Given the description of an element on the screen output the (x, y) to click on. 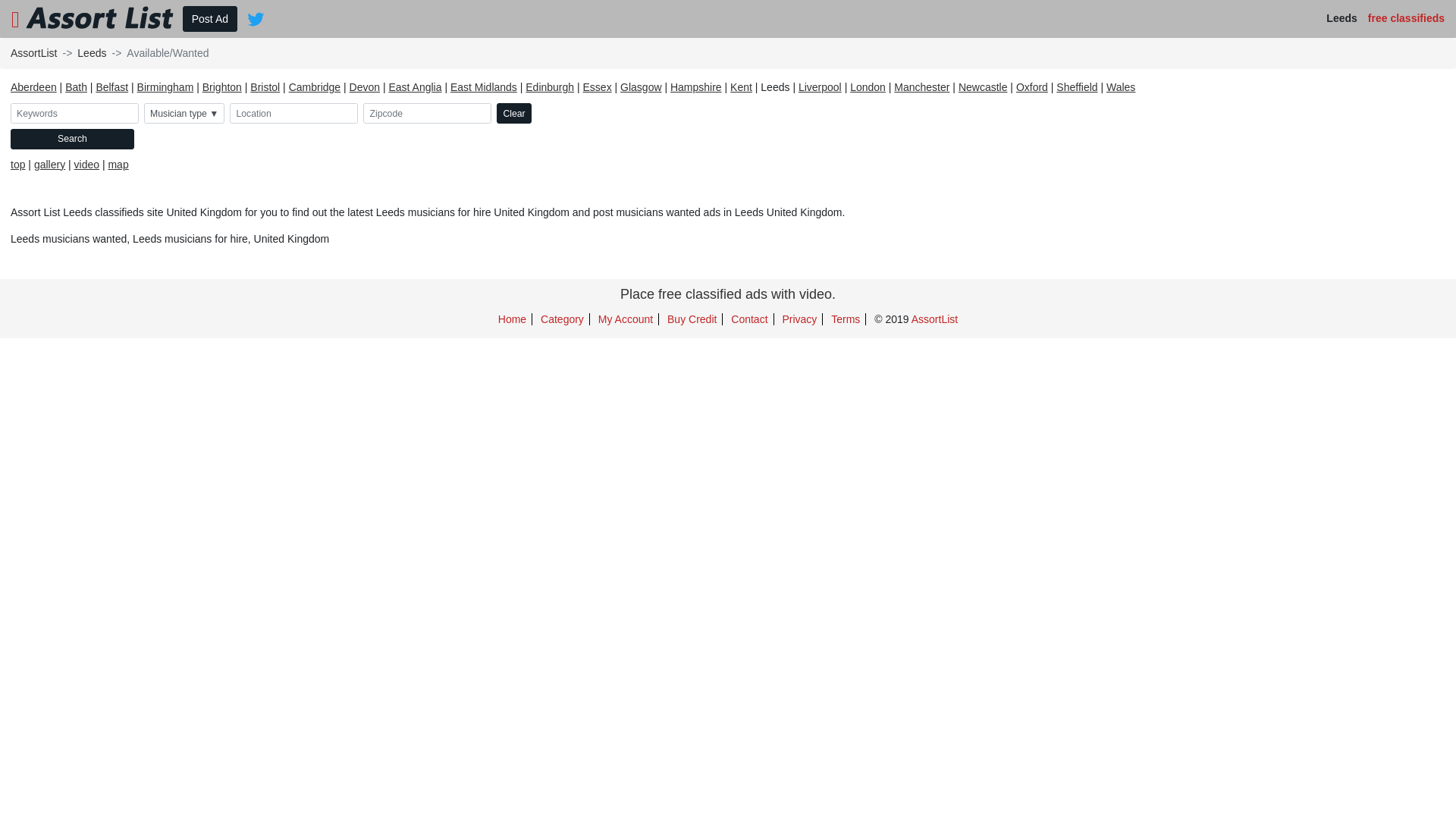
Buy Credit Element type: text (691, 213)
Contact Element type: text (749, 213)
Category Element type: text (561, 213)
Privacy Element type: text (798, 213)
AssortList Element type: text (934, 213)
Home Element type: text (512, 213)
My Account Element type: text (625, 213)
Place free classified ads with video. Element type: text (727, 187)
Terms Element type: text (845, 213)
Post Ad Element type: text (209, 18)
